Given the description of an element on the screen output the (x, y) to click on. 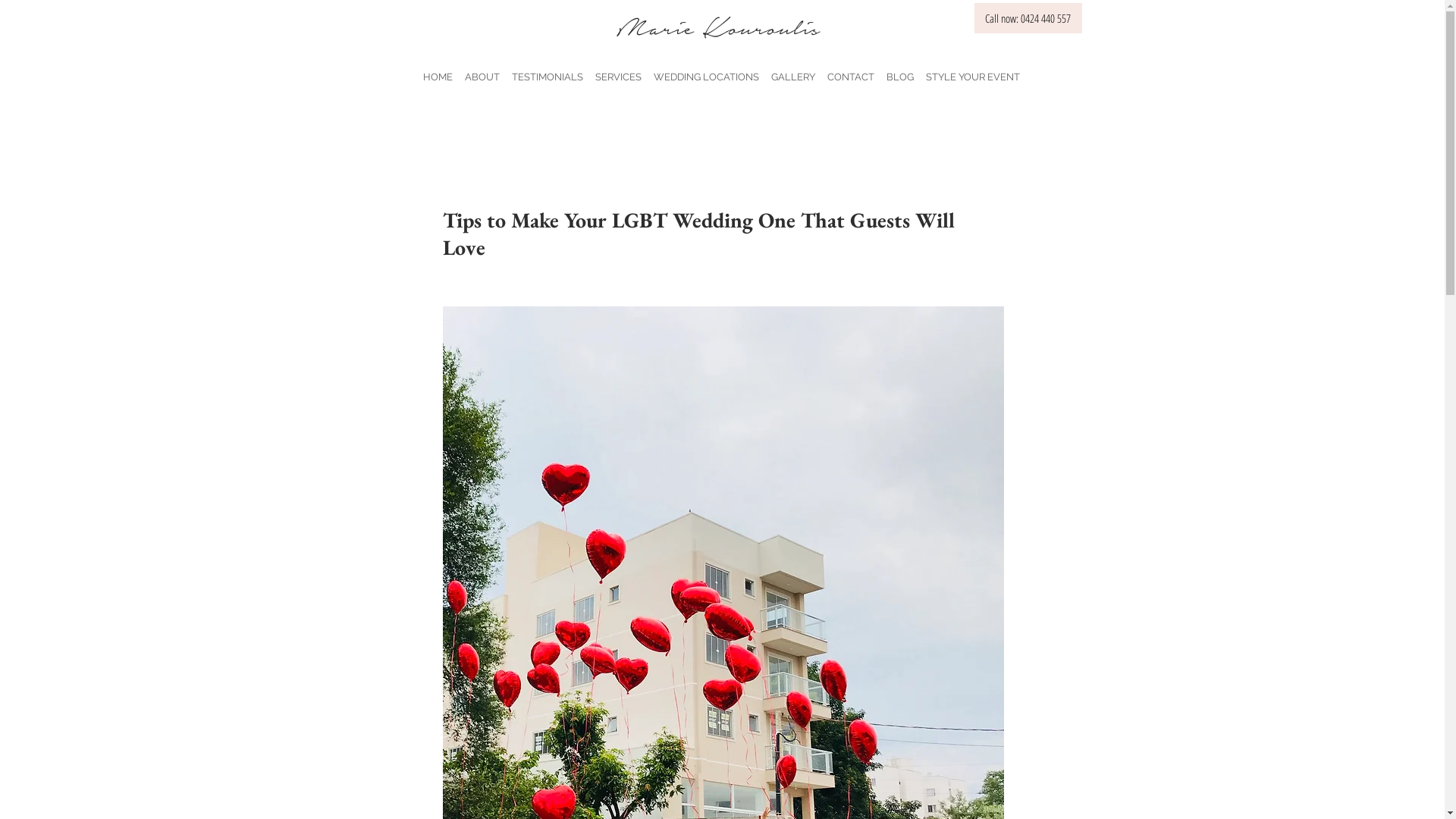
ABOUT Element type: text (481, 69)
GALLERY Element type: text (792, 69)
BLOG Element type: text (899, 69)
CONTACT Element type: text (849, 69)
WEDDING LOCATIONS Element type: text (706, 69)
Marie Kouroulis  Element type: text (721, 25)
TESTIMONIALS Element type: text (546, 69)
Call now: 0424 440 557 Element type: text (1027, 18)
STYLE YOUR EVENT Element type: text (972, 69)
HOME Element type: text (437, 69)
SERVICES Element type: text (617, 69)
